Given the description of an element on the screen output the (x, y) to click on. 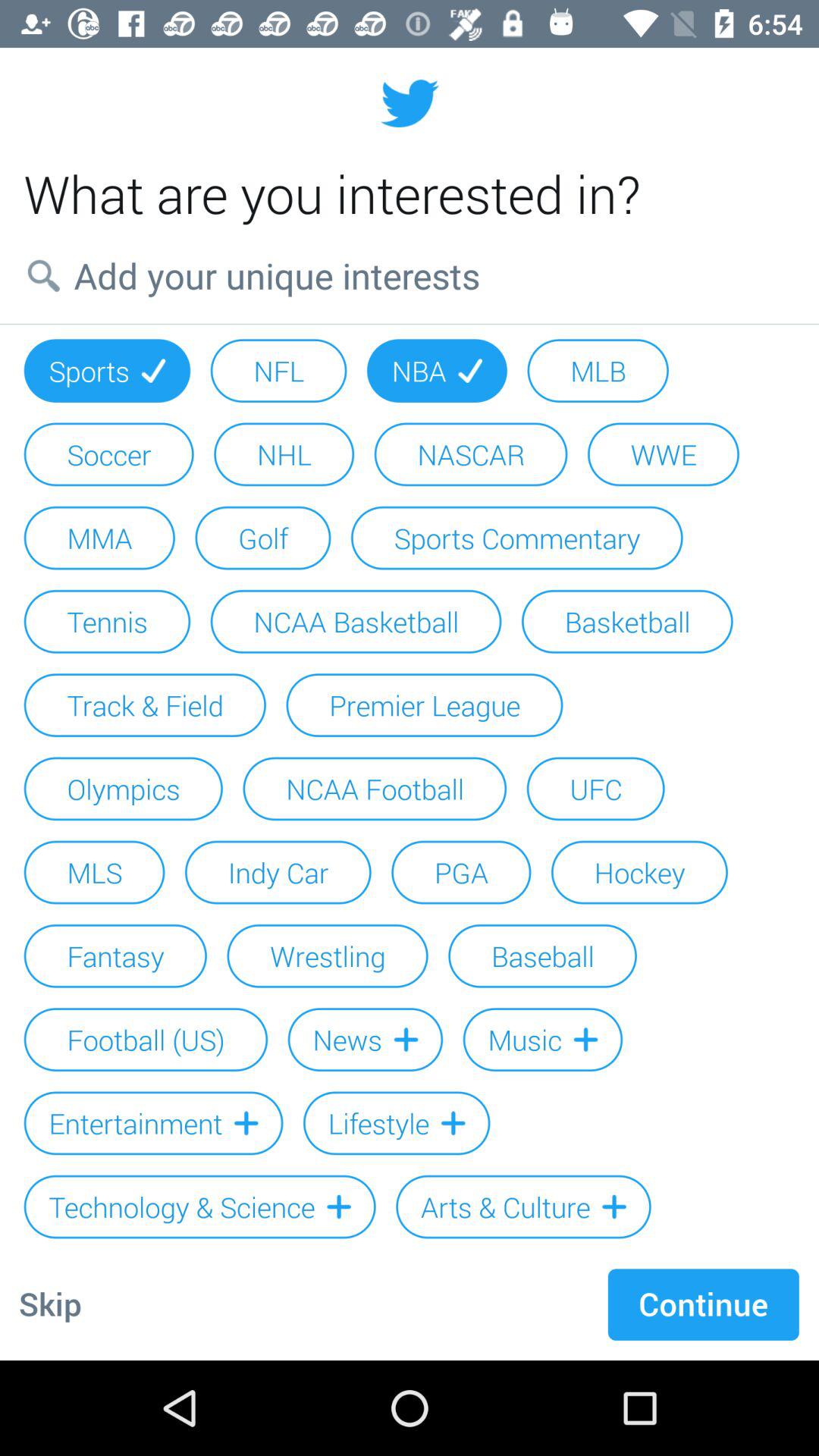
tap the icon next to ncaa football (595, 788)
